Given the description of an element on the screen output the (x, y) to click on. 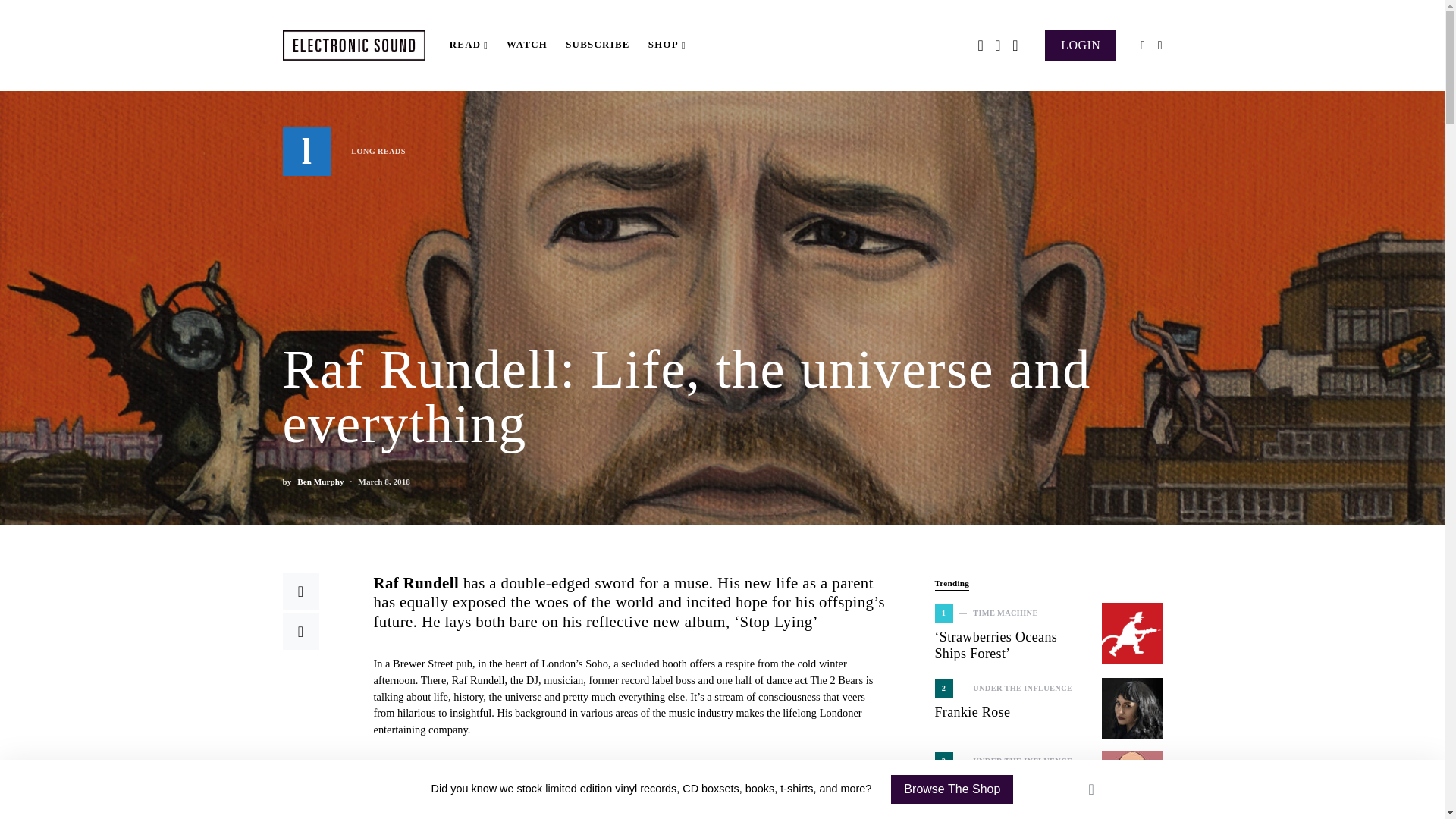
LOGIN (1080, 44)
View all posts by Ben Murphy (320, 481)
Ben Murphy (320, 481)
SUBSCRIBE (597, 45)
